Given the description of an element on the screen output the (x, y) to click on. 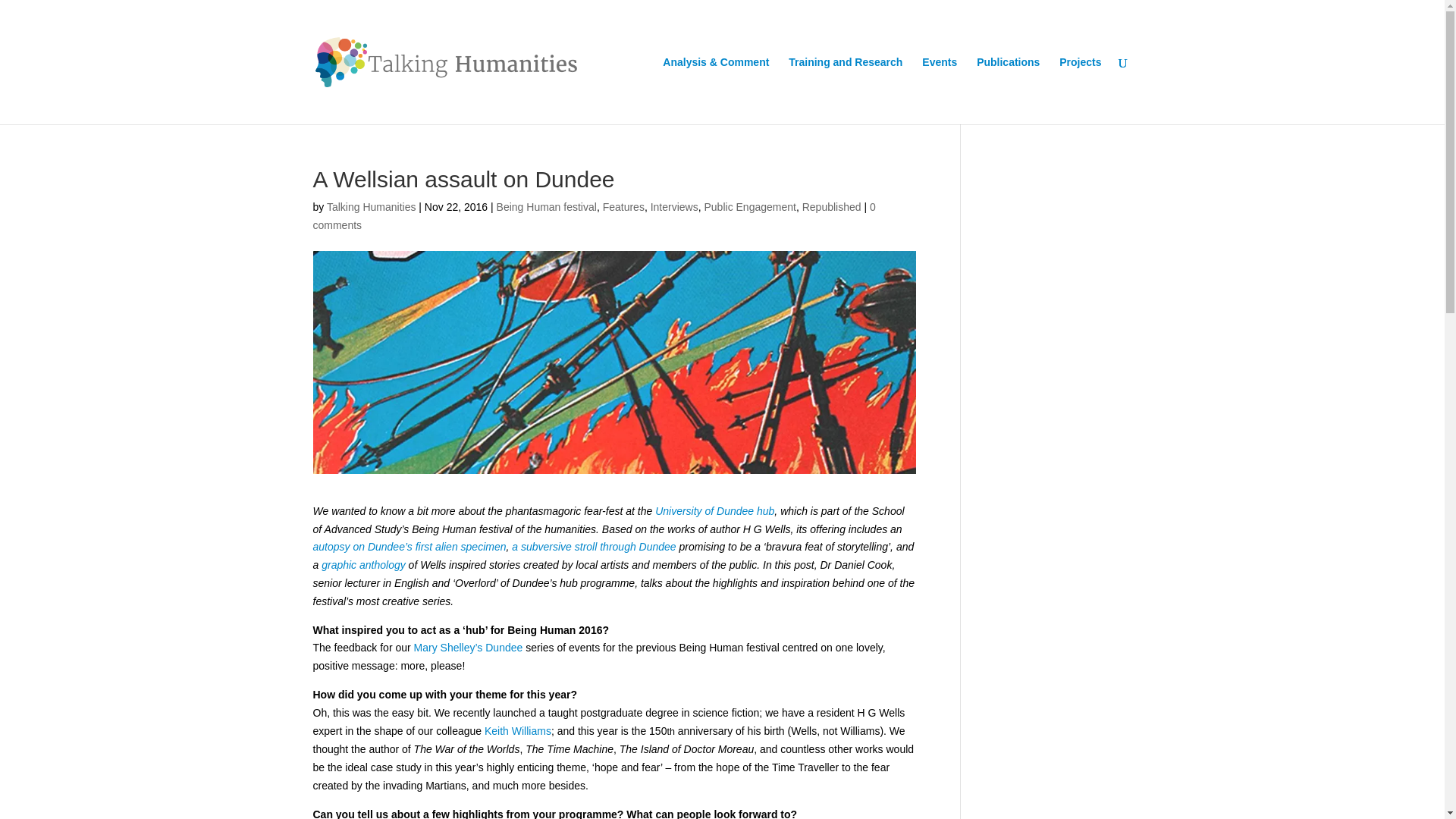
Features (623, 206)
Interviews (674, 206)
Being Human festival (546, 206)
Talking Humanities (371, 206)
Keith Williams (517, 730)
0 comments (594, 215)
Republished (831, 206)
Publications (1007, 90)
Training and Research (845, 90)
graphic anthology (363, 564)
Posts by Talking Humanities (371, 206)
University of Dundee hu (711, 510)
a subversive stroll through Dundee (593, 546)
Public Engagement (748, 206)
